Given the description of an element on the screen output the (x, y) to click on. 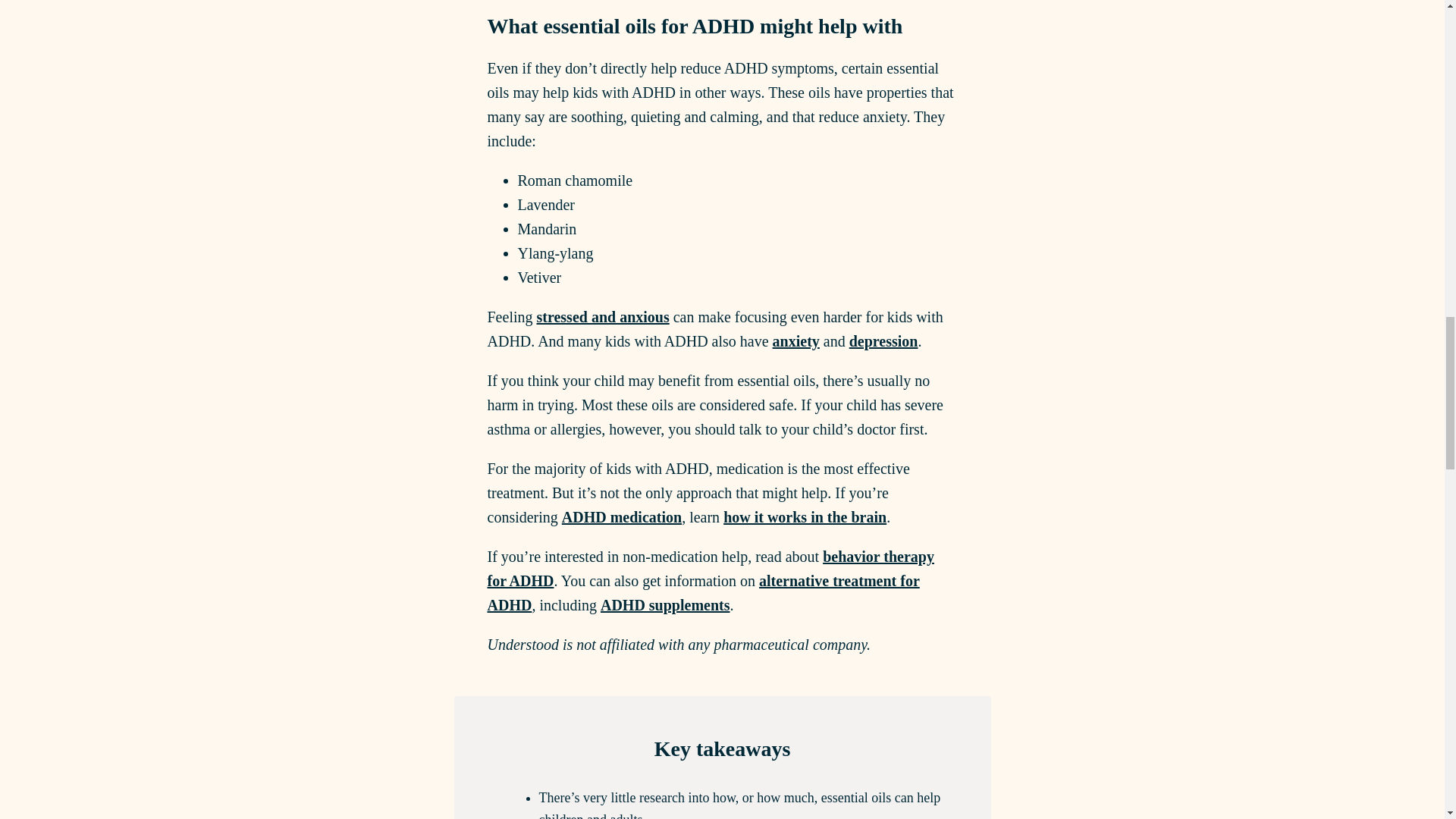
anxiety (796, 340)
ADHD medication (621, 516)
how it works in the brain (804, 516)
alternative treatment for ADHD (702, 592)
depression (883, 340)
stressed and anxious (603, 316)
ADHD supplements (664, 605)
behavior therapy for ADHD (709, 567)
